Given the description of an element on the screen output the (x, y) to click on. 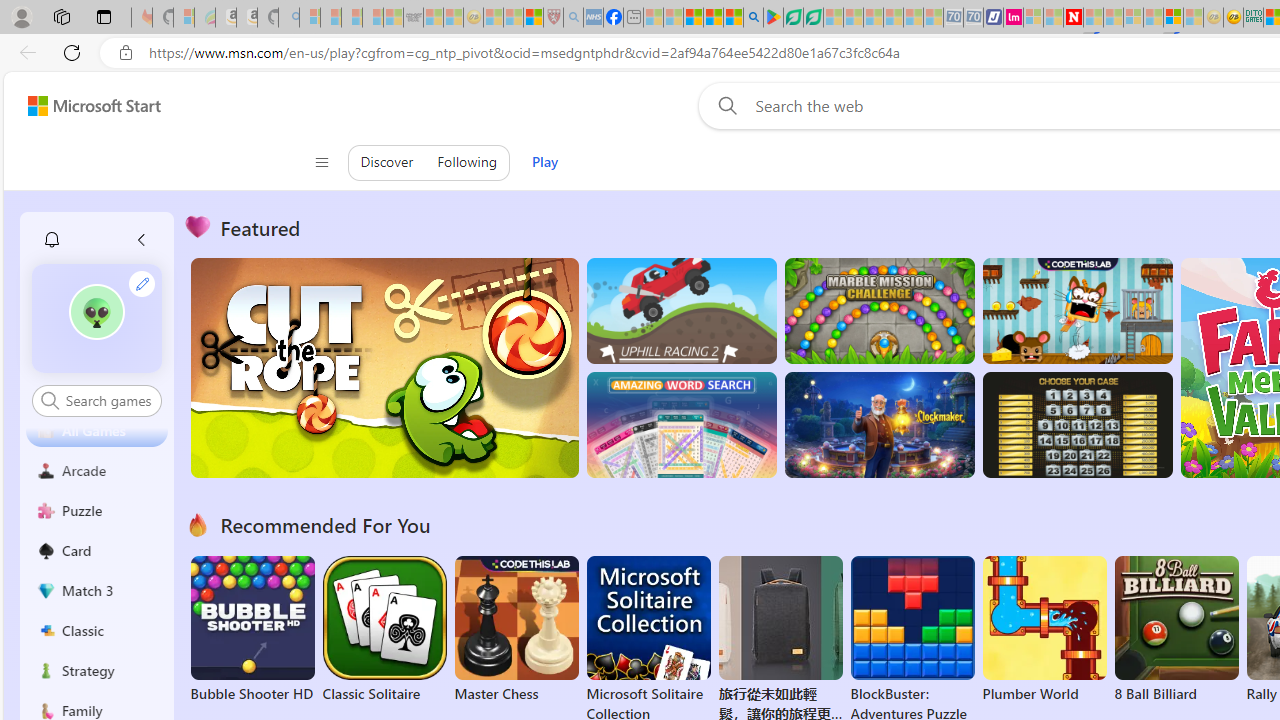
Terms of Use Agreement (792, 17)
Latest Politics News & Archive | Newsweek.com (1072, 17)
Microsoft Word - consumer-privacy address update 2.2021 (813, 17)
Amazing Word Search (681, 425)
Marble Mission : Challenge (879, 310)
